Given the description of an element on the screen output the (x, y) to click on. 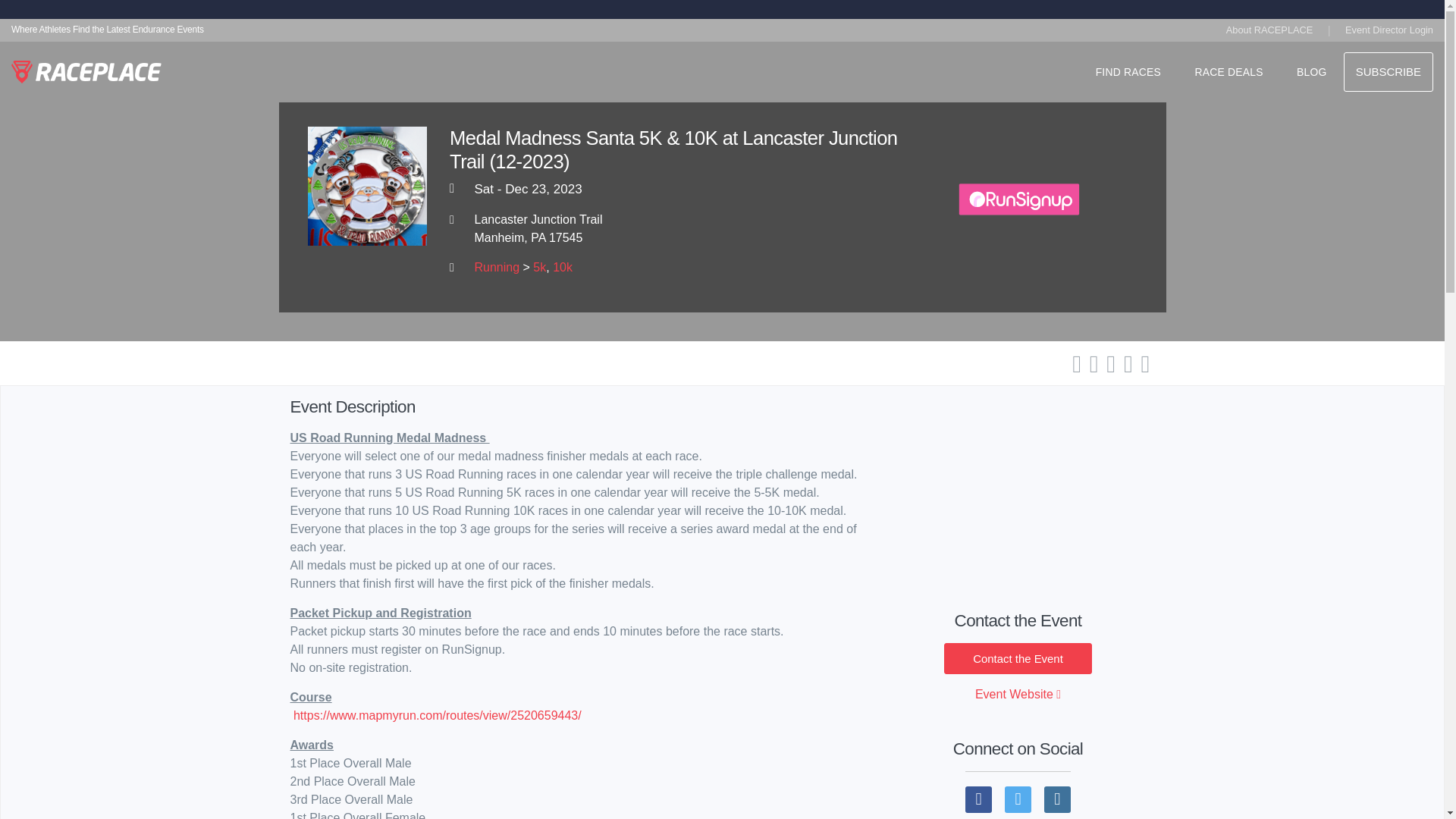
FIND RACES (1127, 74)
Event Director Login (1388, 29)
Registration Powered by RunSignUp (1019, 199)
About RACEPLACE (1269, 32)
